Given the description of an element on the screen output the (x, y) to click on. 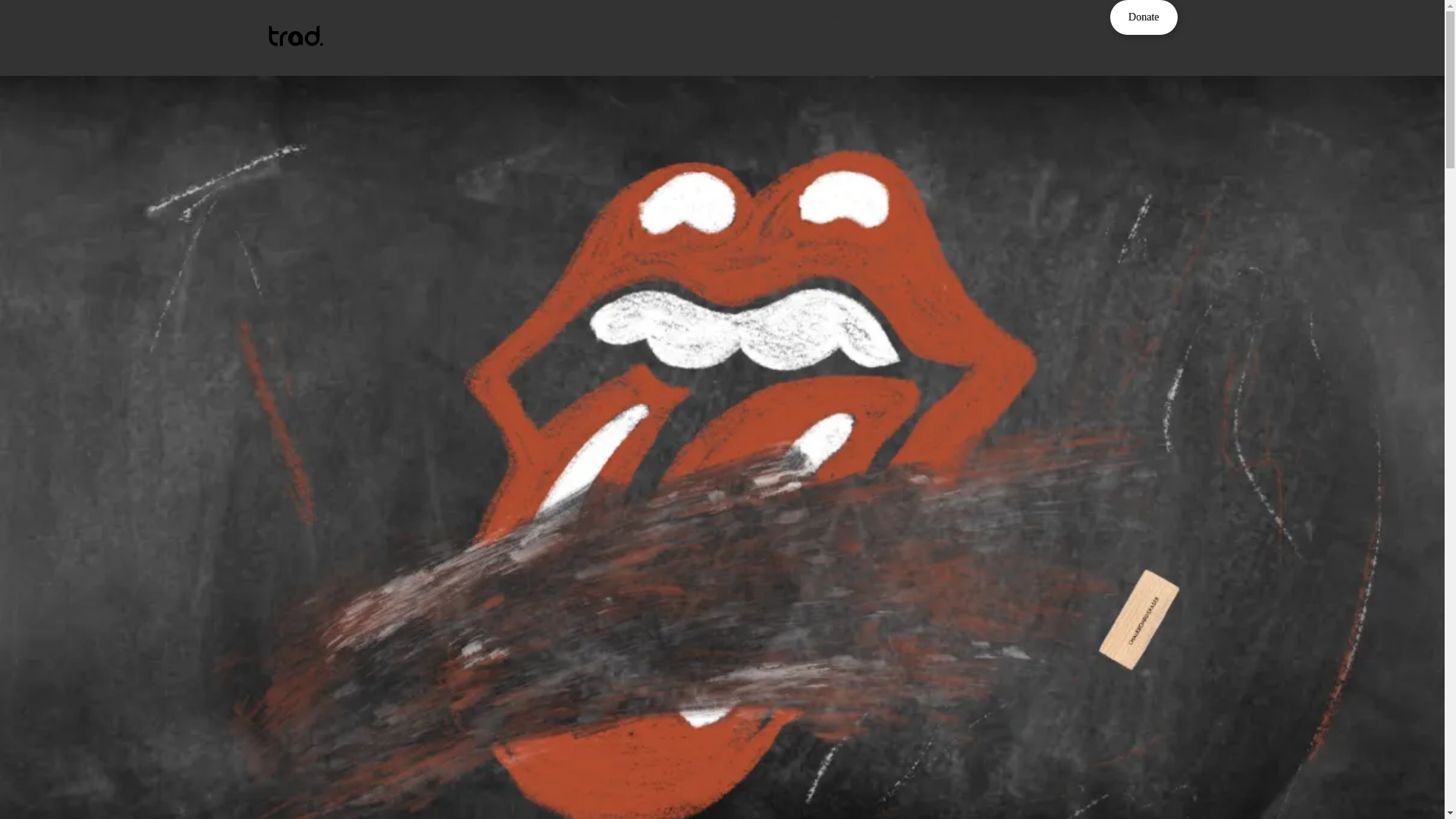
Trad TV (1035, 17)
Magazine (902, 17)
Poetry and Justice (818, 17)
Donate (1142, 17)
About Us (970, 17)
